Given the description of an element on the screen output the (x, y) to click on. 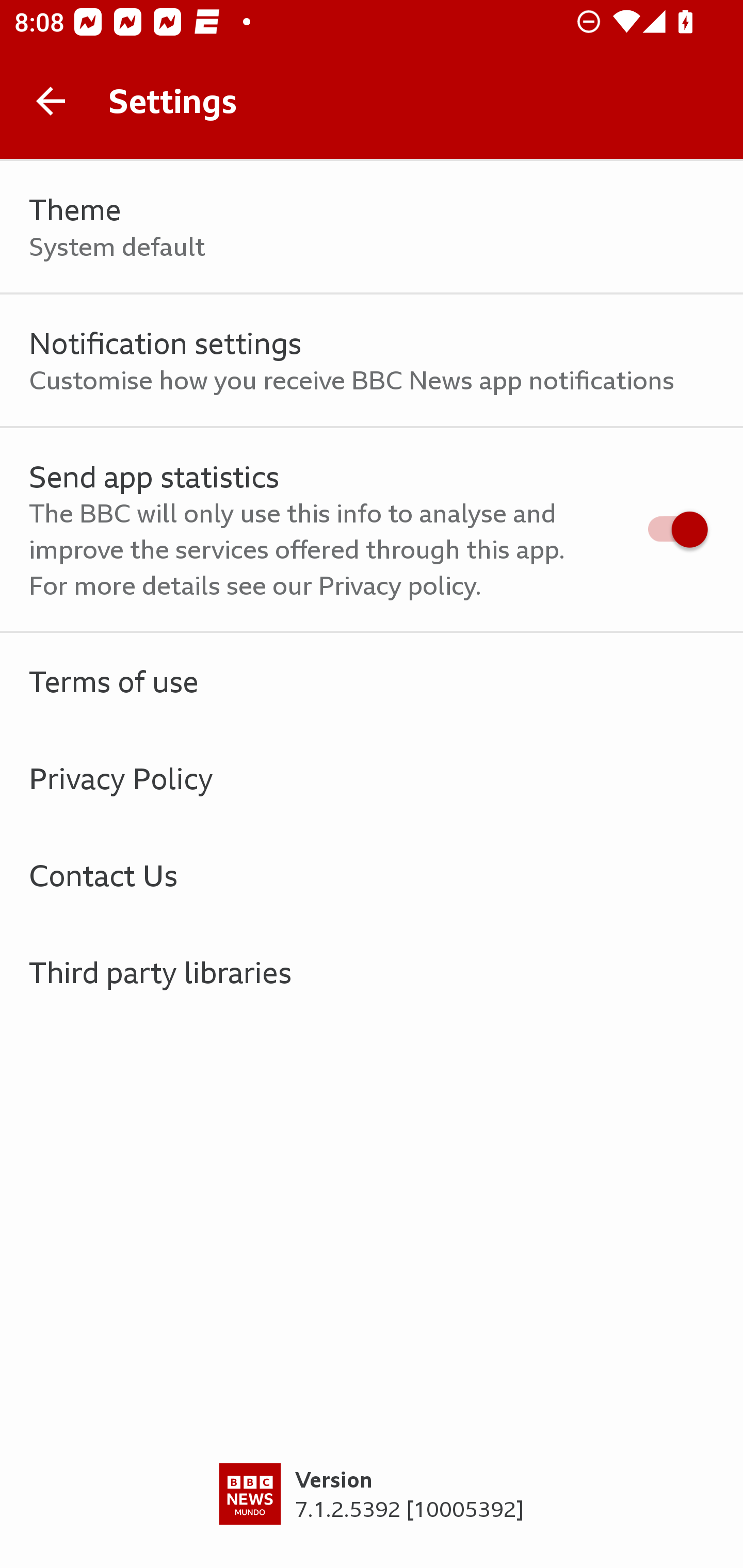
Back (50, 101)
Theme System default (371, 227)
Terms of use (371, 681)
Privacy Policy (371, 777)
Contact Us (371, 874)
Third party libraries (371, 971)
Version 7.1.2.5392 [10005392] (371, 1515)
